Given the description of an element on the screen output the (x, y) to click on. 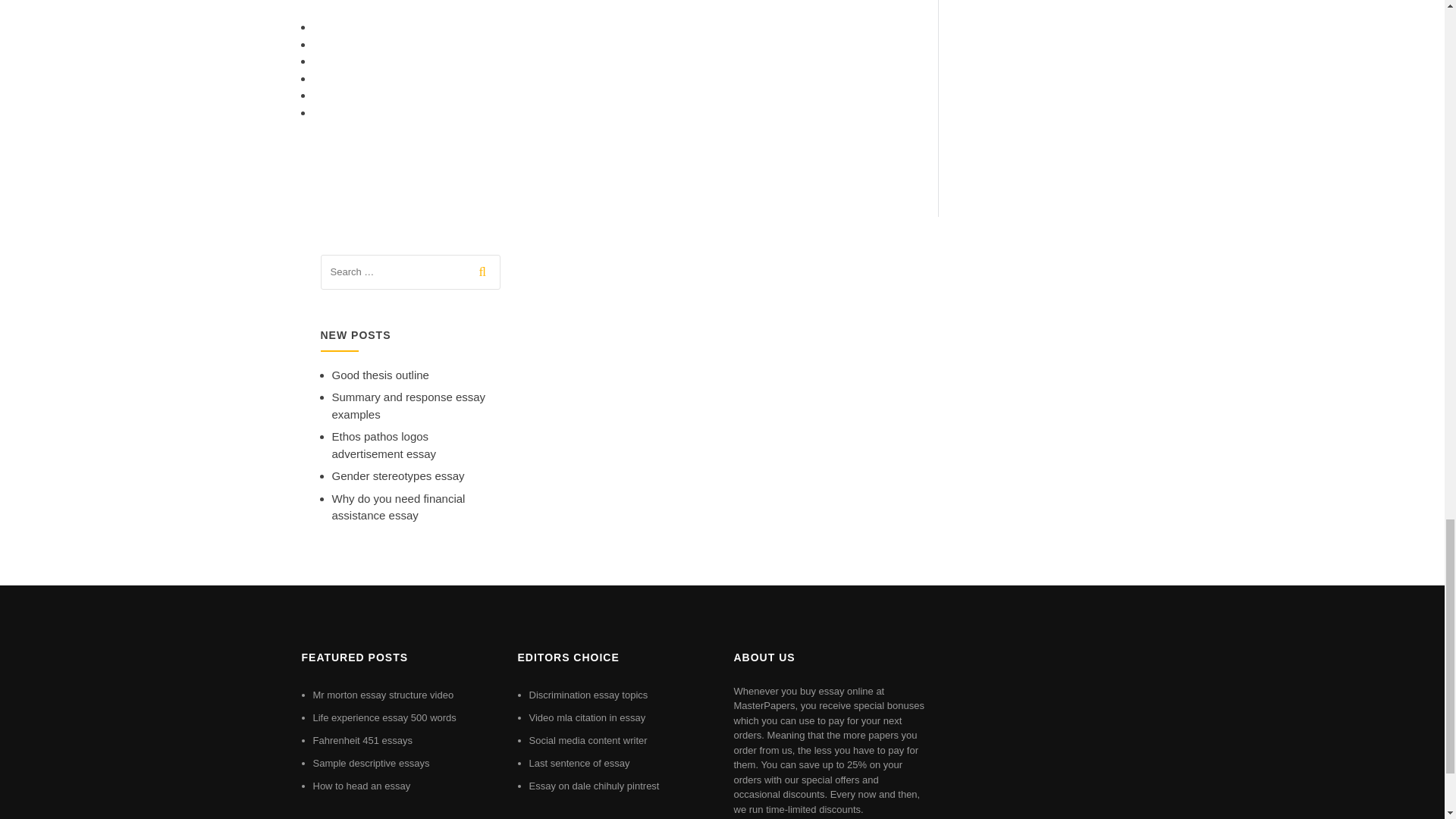
Summary and response essay examples (408, 405)
Mr morton essay structure video (382, 695)
Good thesis outline (380, 374)
Gender stereotypes essay (397, 475)
Why do you need financial assistance essay (398, 507)
Social media content writer (588, 740)
Last sentence of essay (579, 763)
How to head an essay (361, 785)
Essay on dale chihuly pintrest (594, 785)
Discrimination essay topics (588, 695)
Ethos pathos logos advertisement essay (383, 444)
Life experience essay 500 words (384, 717)
Sample descriptive essays (371, 763)
Video mla citation in essay (587, 717)
Fahrenheit 451 essays (362, 740)
